Given the description of an element on the screen output the (x, y) to click on. 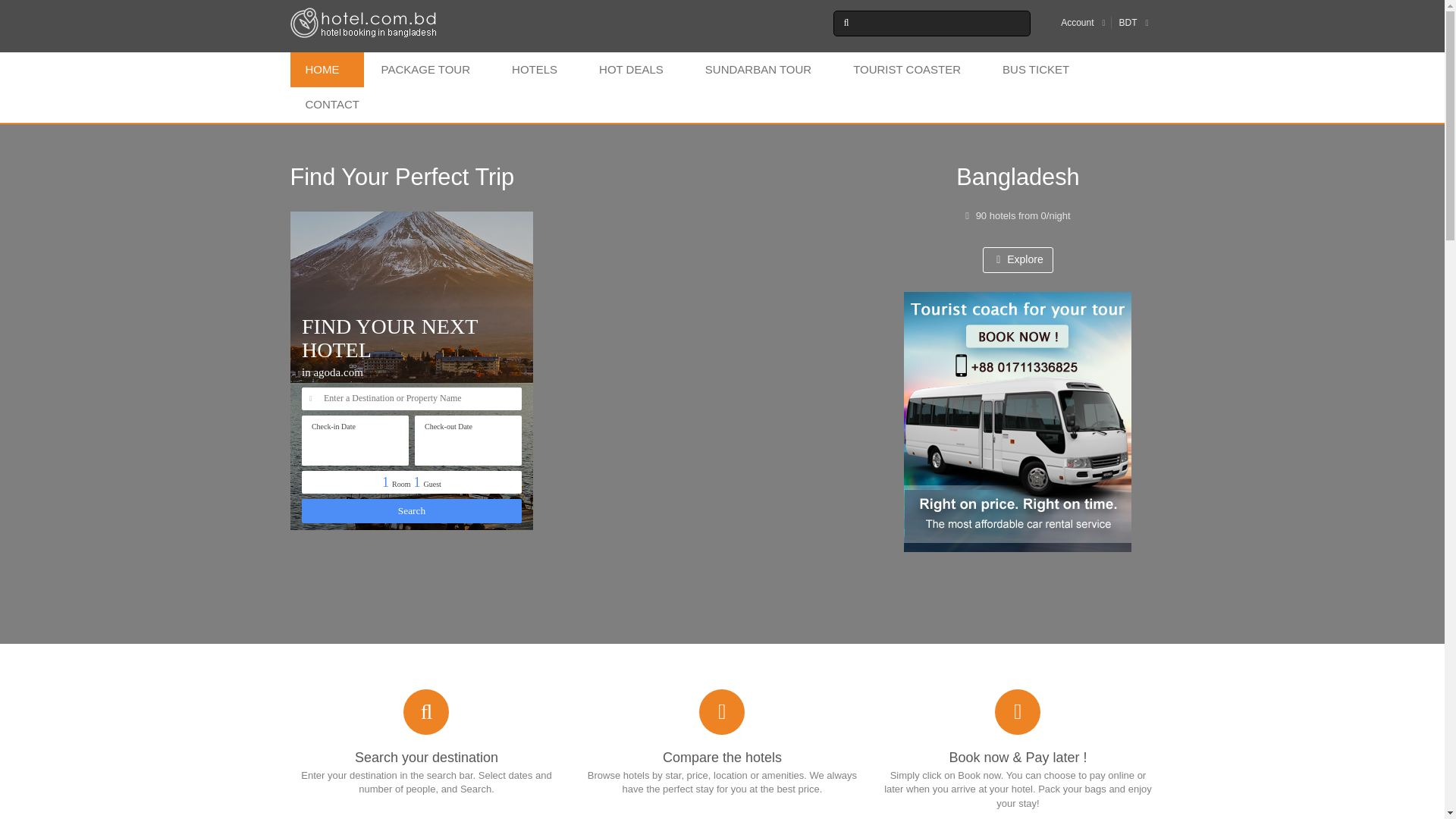
CONTACT (335, 104)
TOURIST COASTER (911, 69)
Hotel.Com.Bd (363, 22)
SUNDARBAN TOUR (762, 69)
PACKAGE TOUR (430, 69)
HOT DEALS (635, 69)
BDT (1128, 22)
Account (1077, 22)
BUS TICKET (1040, 69)
HOTELS (538, 69)
